Given the description of an element on the screen output the (x, y) to click on. 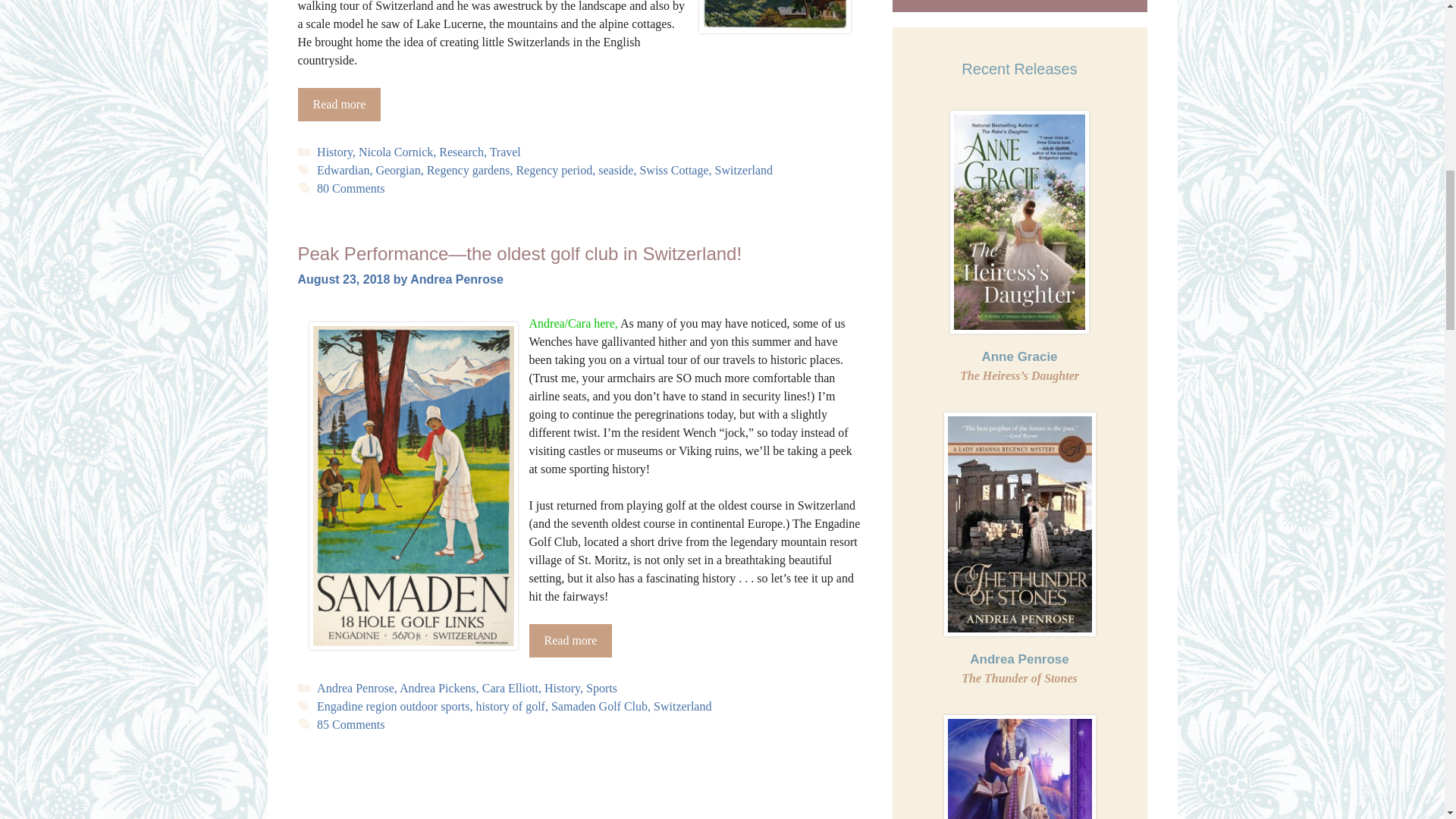
Read more (338, 104)
A Little Bit of Switzerland in Regency England! (338, 104)
Read more (570, 640)
Nicola Cornick (395, 151)
Switzerland (743, 169)
Switzerland vintage (774, 16)
Georgian (397, 169)
Samaden (413, 485)
80 Comments (350, 187)
Edwardian (343, 169)
Swiss Cottage (673, 169)
Research (461, 151)
History (334, 151)
View all posts by Andrea Penrose (456, 278)
Regency period (553, 169)
